Given the description of an element on the screen output the (x, y) to click on. 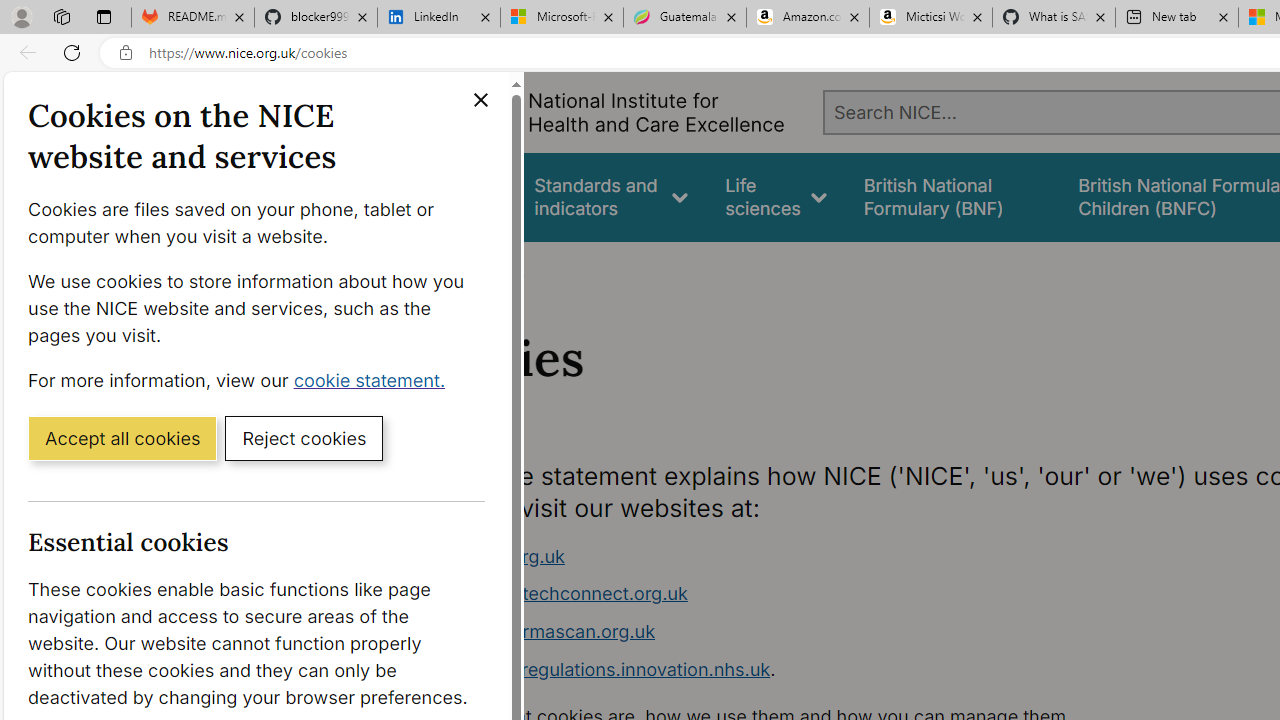
Close cookie banner (480, 99)
About (498, 268)
Microsoft-Report a Concern to Bing (561, 17)
www.nice.org.uk (492, 556)
www.ukpharmascan.org.uk (796, 632)
www.healthtechconnect.org.uk (554, 593)
Guidance (458, 196)
About (498, 268)
